Given the description of an element on the screen output the (x, y) to click on. 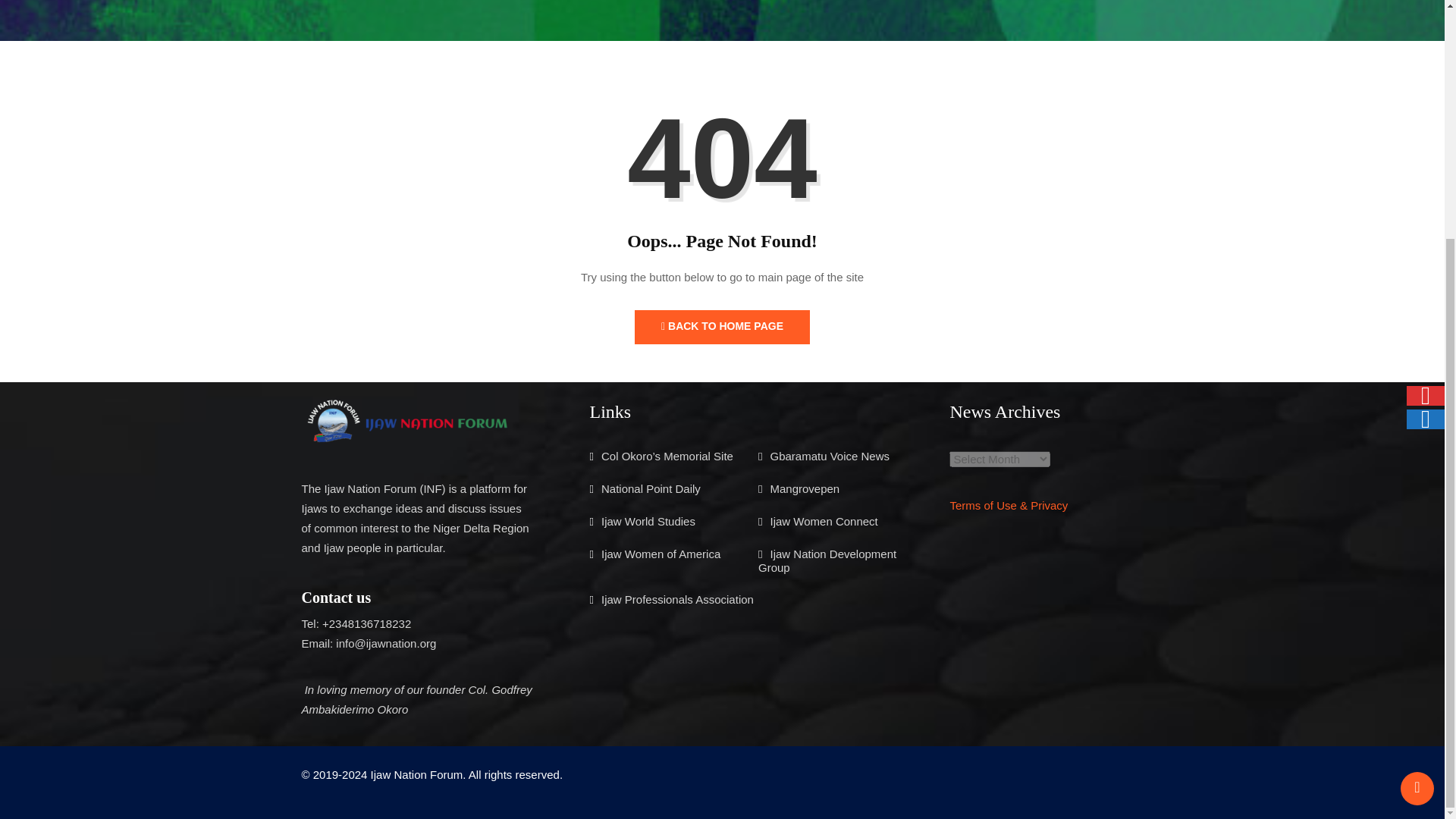
Ijaw Nation Development Group (827, 560)
Mangrovepen (805, 488)
Ijaw Women Connect (823, 521)
National Point Daily (650, 488)
Gbaramatu Voice News (829, 455)
Ijaw Professionals Association (677, 599)
Ijaw World Studies (648, 521)
BACK TO HOME PAGE (721, 326)
Ijaw Women of America (660, 553)
